Given the description of an element on the screen output the (x, y) to click on. 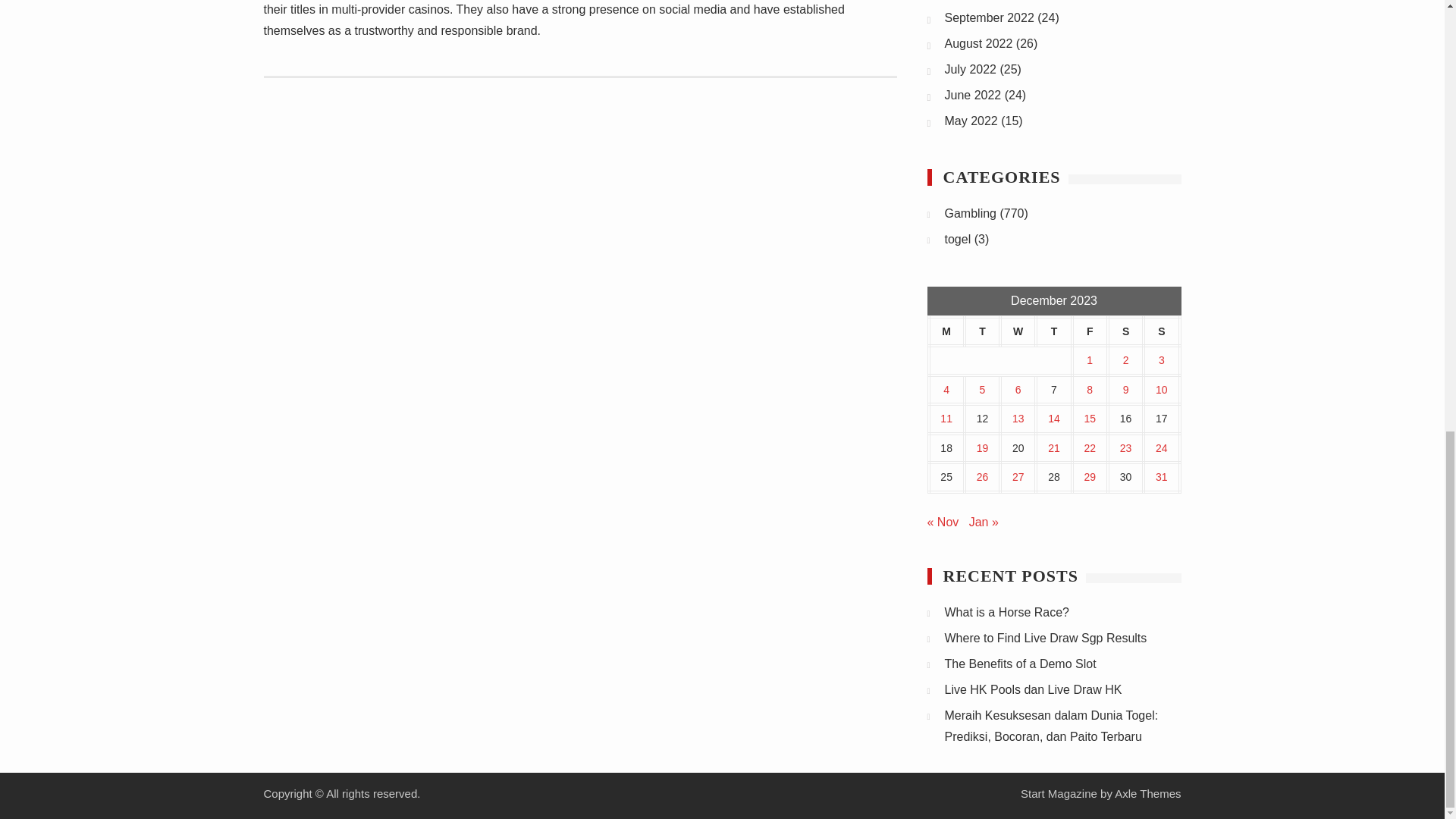
Sunday (1160, 331)
Friday (1089, 331)
Tuesday (981, 331)
Wednesday (1017, 331)
Thursday (1053, 331)
Monday (945, 331)
Saturday (1125, 331)
